Given the description of an element on the screen output the (x, y) to click on. 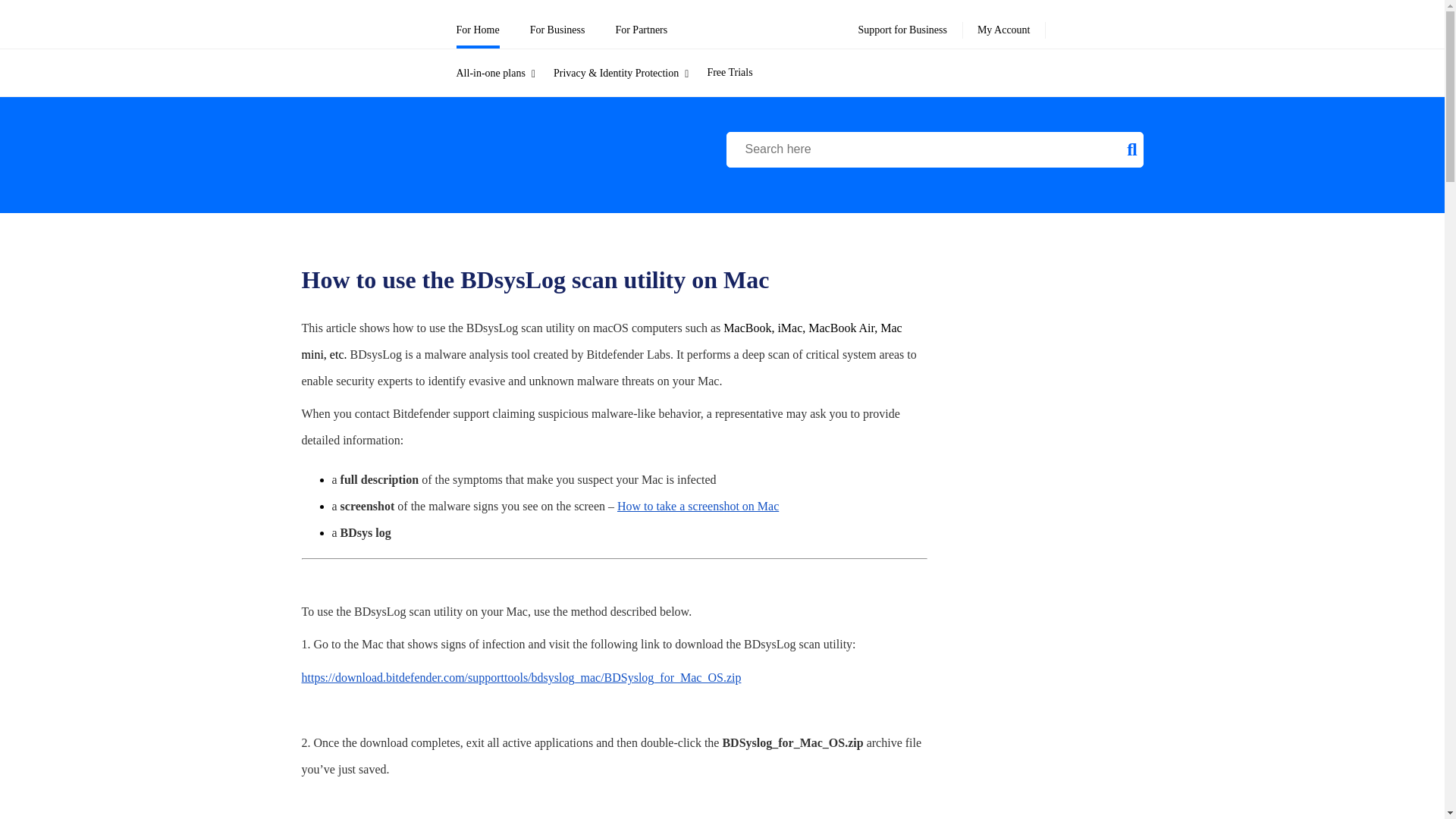
Support for Business (901, 24)
Consumer Support (347, 76)
My Account (1003, 24)
Free Trials (738, 72)
For Business (557, 24)
For Home (478, 24)
For Partners (640, 24)
How to take a screenshot on Mac (697, 505)
